Given the description of an element on the screen output the (x, y) to click on. 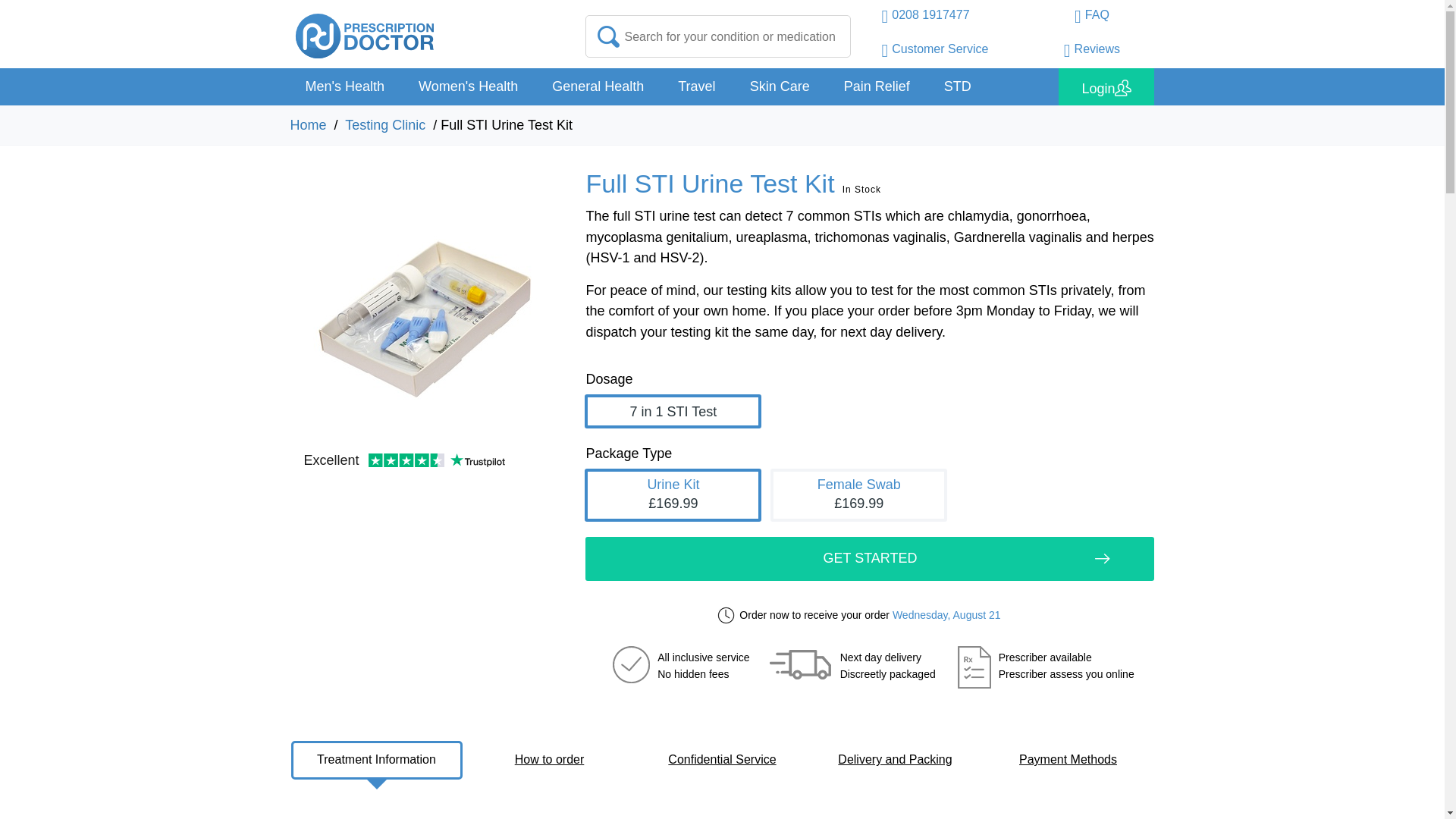
0208 1917477 (924, 18)
Reviews (1091, 51)
General Health (598, 86)
Customer Service (934, 51)
Women's Health (467, 86)
Men's Health (343, 86)
FAQ (1091, 18)
